Given the description of an element on the screen output the (x, y) to click on. 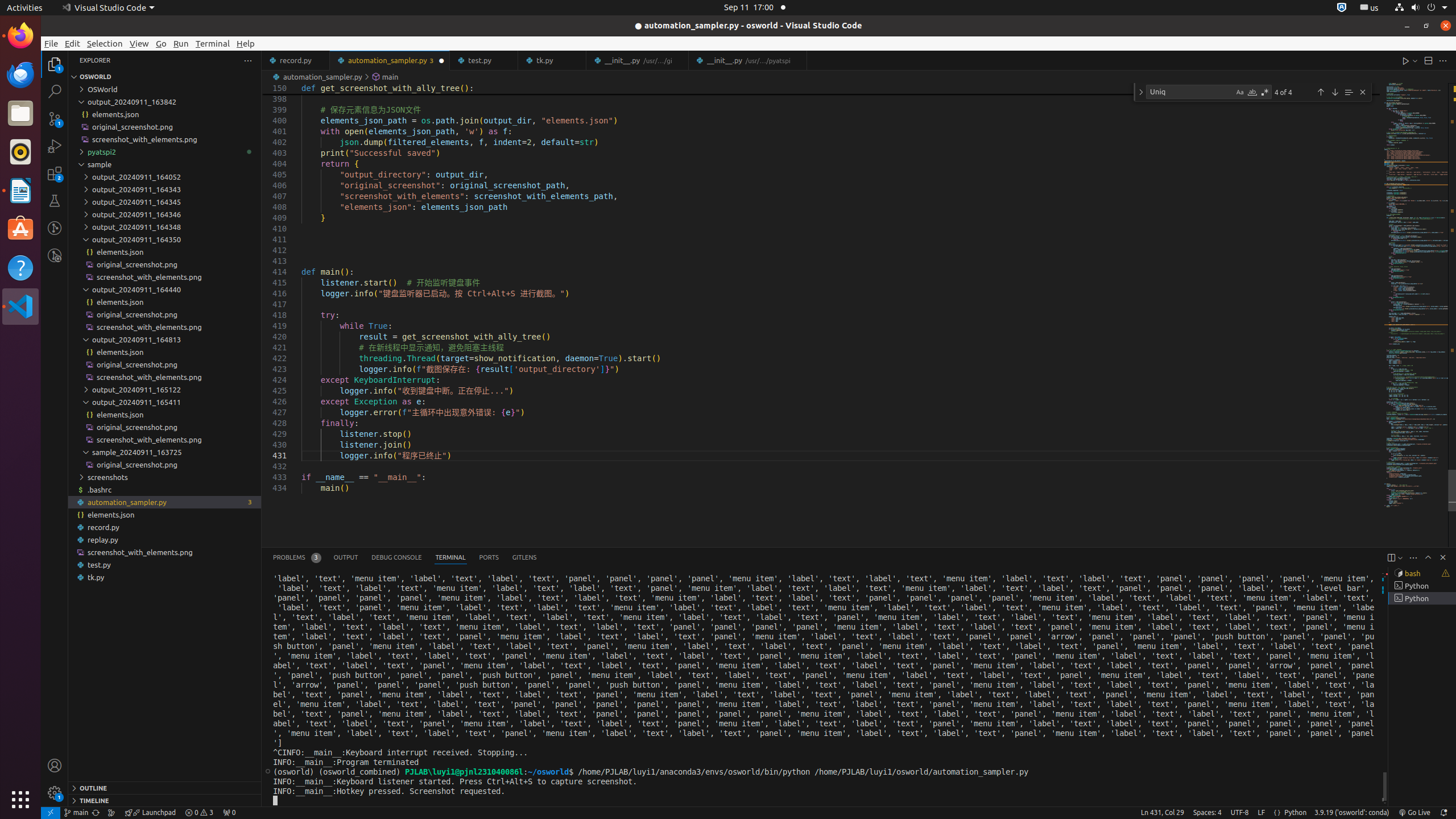
sample Element type: tree-item (164, 164)
original_screenshot.png Element type: tree-item (164, 464)
GitLens Element type: page-tab (524, 557)
output_20240911_165411 Element type: tree-item (164, 401)
output_20240911_165122 Element type: tree-item (164, 389)
